Given the description of an element on the screen output the (x, y) to click on. 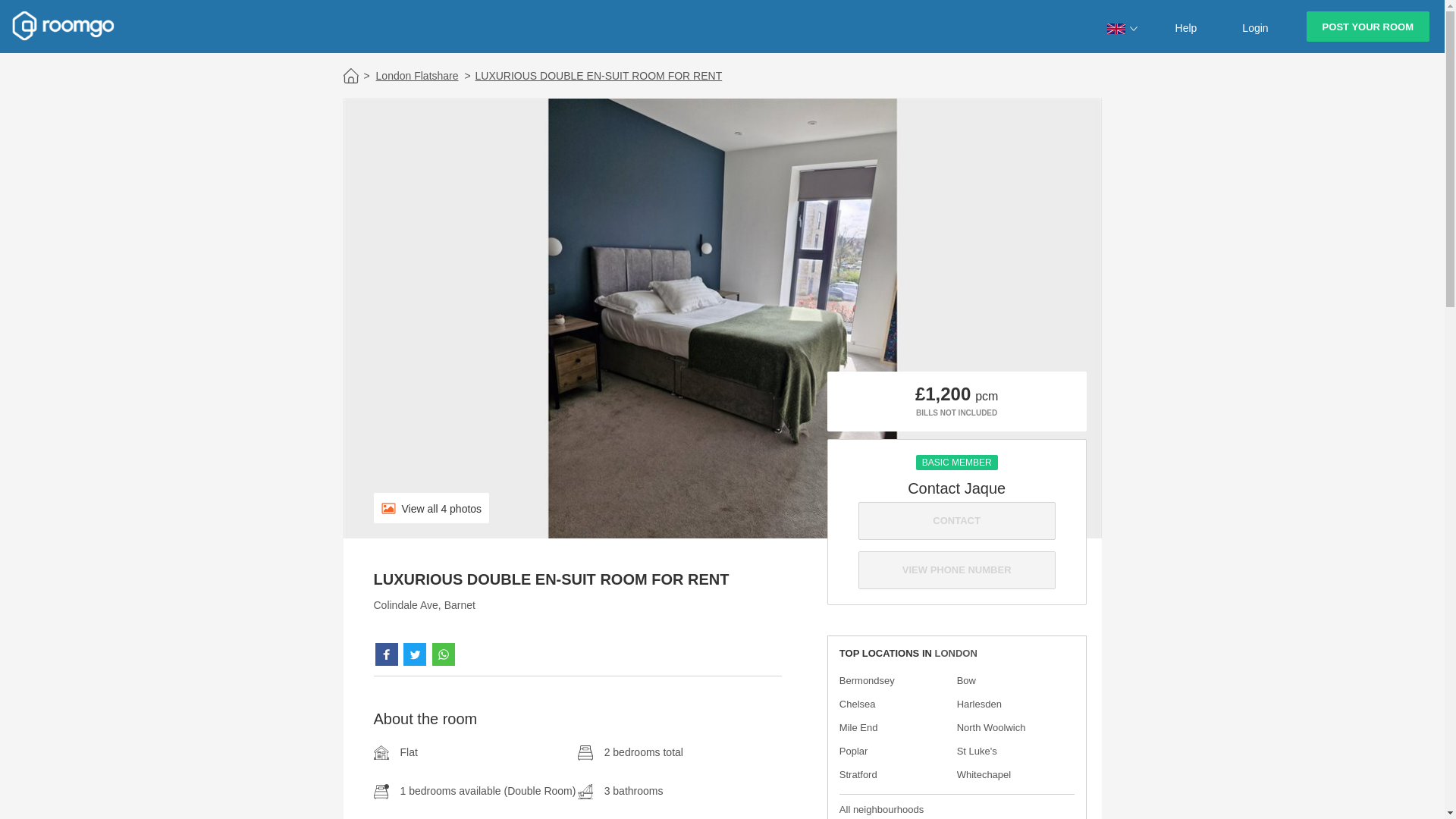
St Luke's (976, 750)
Bow (965, 680)
London Flatshare (418, 75)
North Woolwich (991, 727)
Harlesden (978, 704)
Mile End (858, 727)
Stratford (858, 774)
Bermondsey (867, 680)
Help (1186, 26)
LONDON (955, 653)
POST YOUR ROOM (1367, 26)
CONTACT (957, 520)
Poplar (853, 750)
Whitechapel (983, 774)
Login (1255, 26)
